Given the description of an element on the screen output the (x, y) to click on. 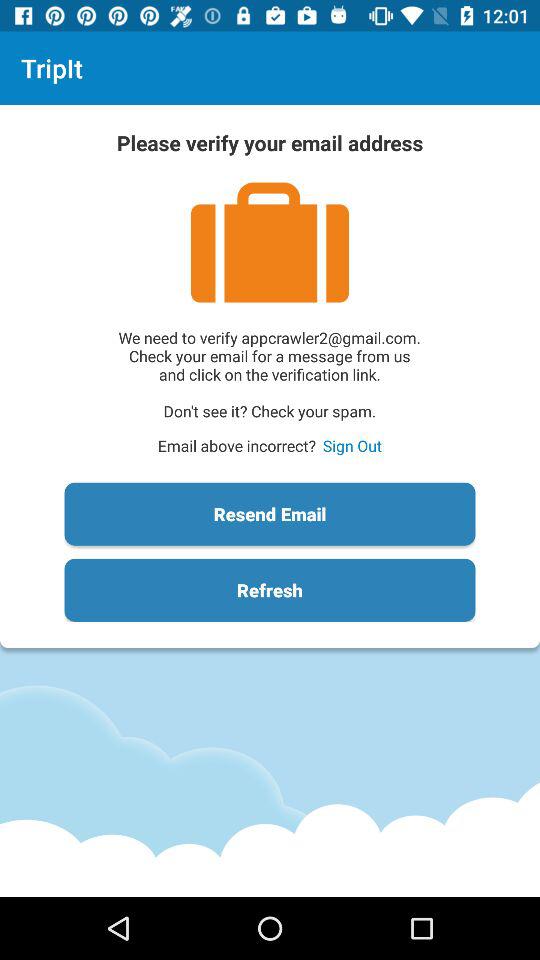
turn on the icon below the email above incorrect? icon (269, 513)
